Given the description of an element on the screen output the (x, y) to click on. 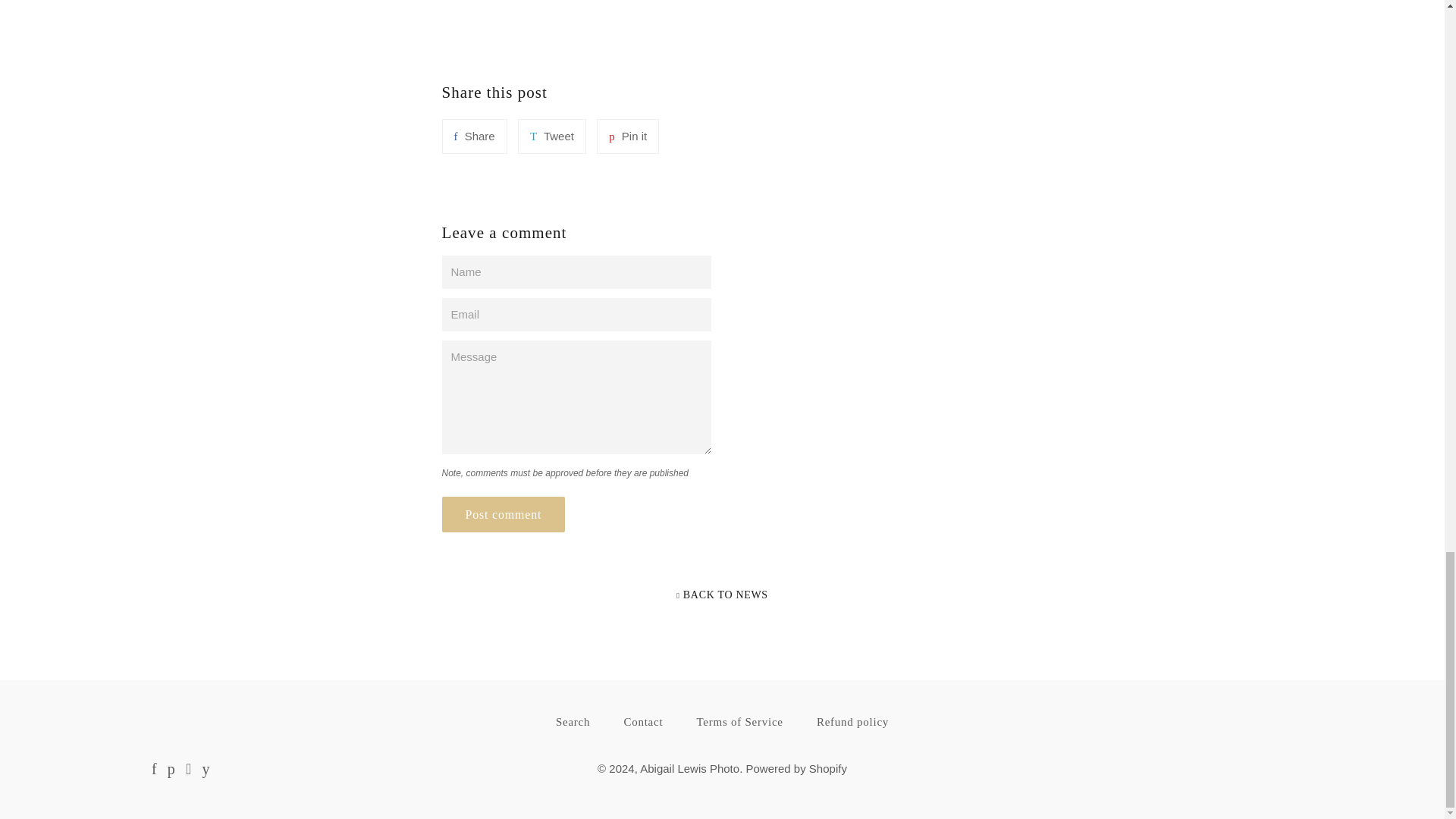
Post comment (502, 514)
Tweet on Twitter (552, 135)
Share on Facebook (473, 135)
Pin on Pinterest (627, 135)
